Given the description of an element on the screen output the (x, y) to click on. 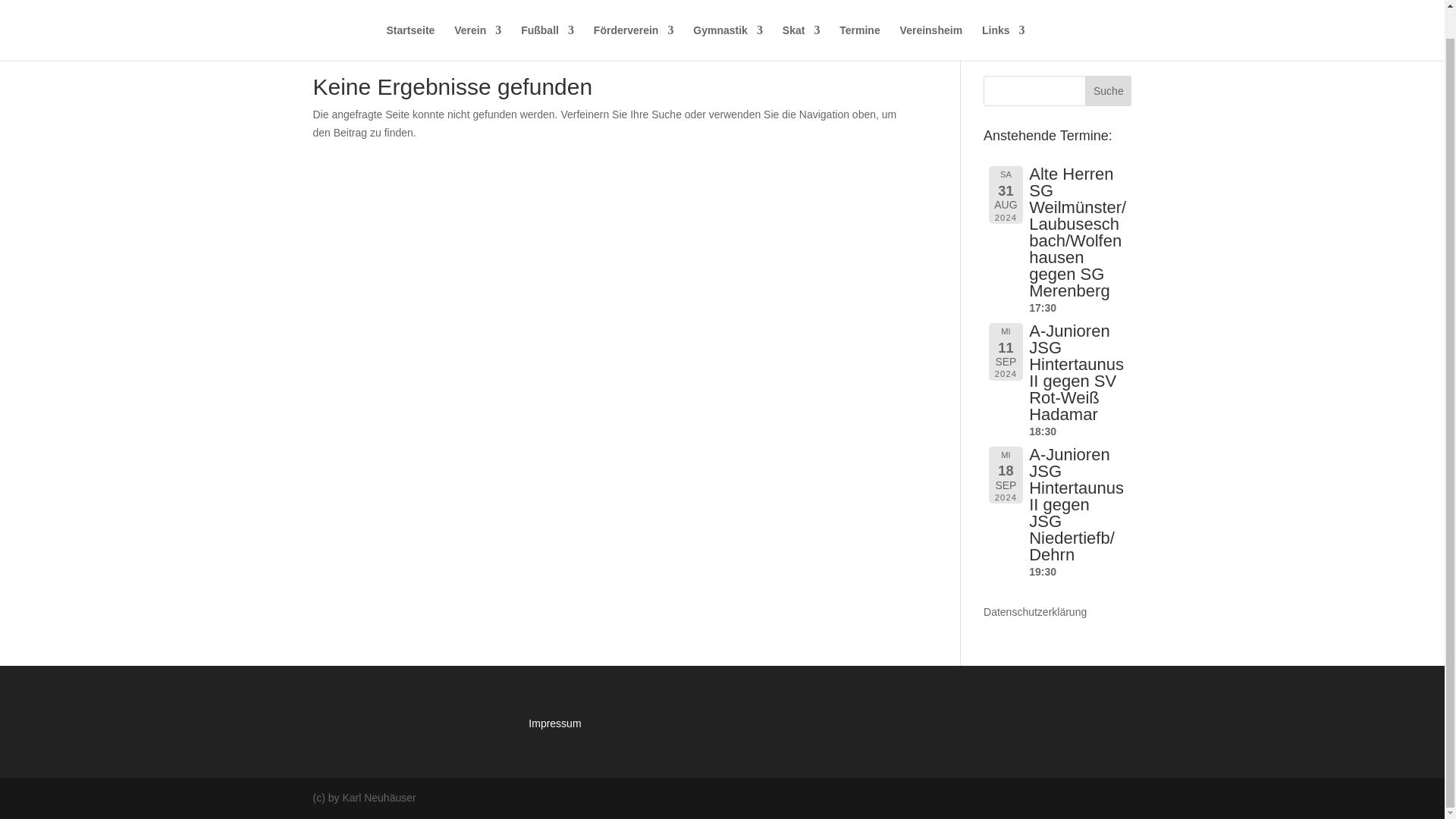
Startseite (411, 15)
Verein (477, 15)
Suche (1107, 91)
